Given the description of an element on the screen output the (x, y) to click on. 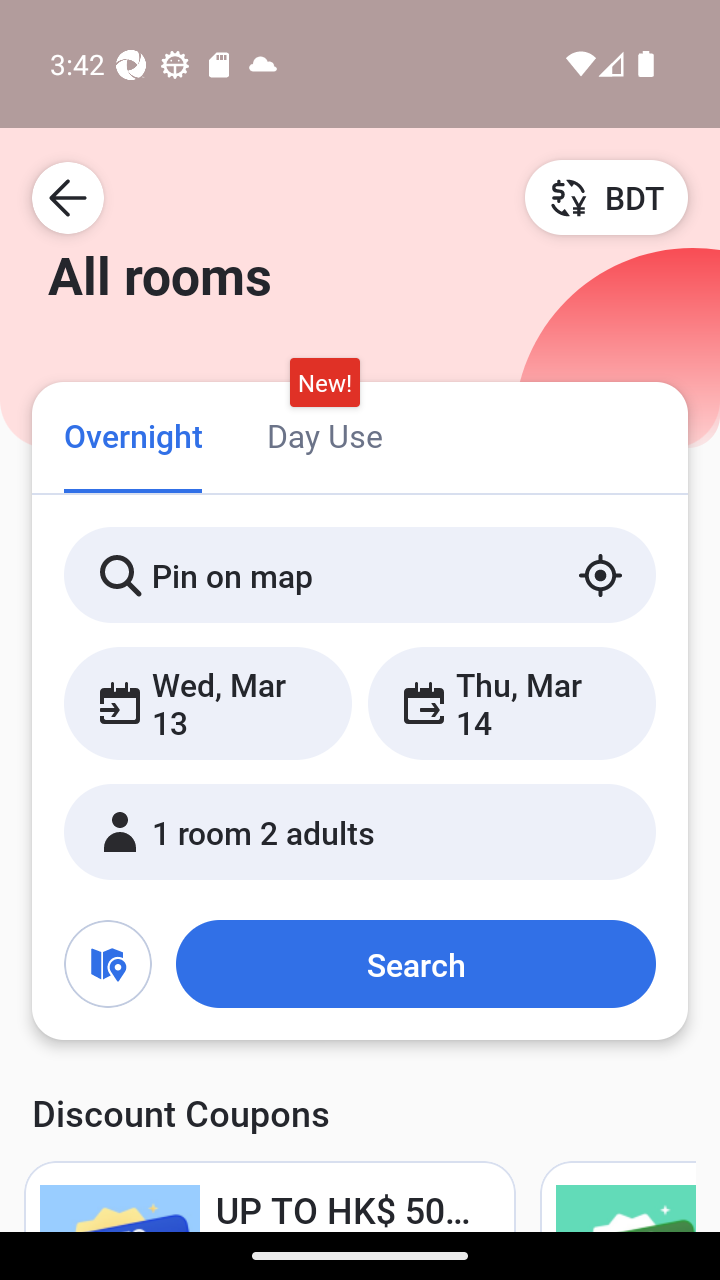
BDT (606, 197)
New! (324, 383)
Day Use (324, 434)
Pin on map (359, 575)
Wed, Mar 13 (208, 703)
Thu, Mar 14 (511, 703)
1 room 2 adults (359, 831)
Search (415, 964)
